Given the description of an element on the screen output the (x, y) to click on. 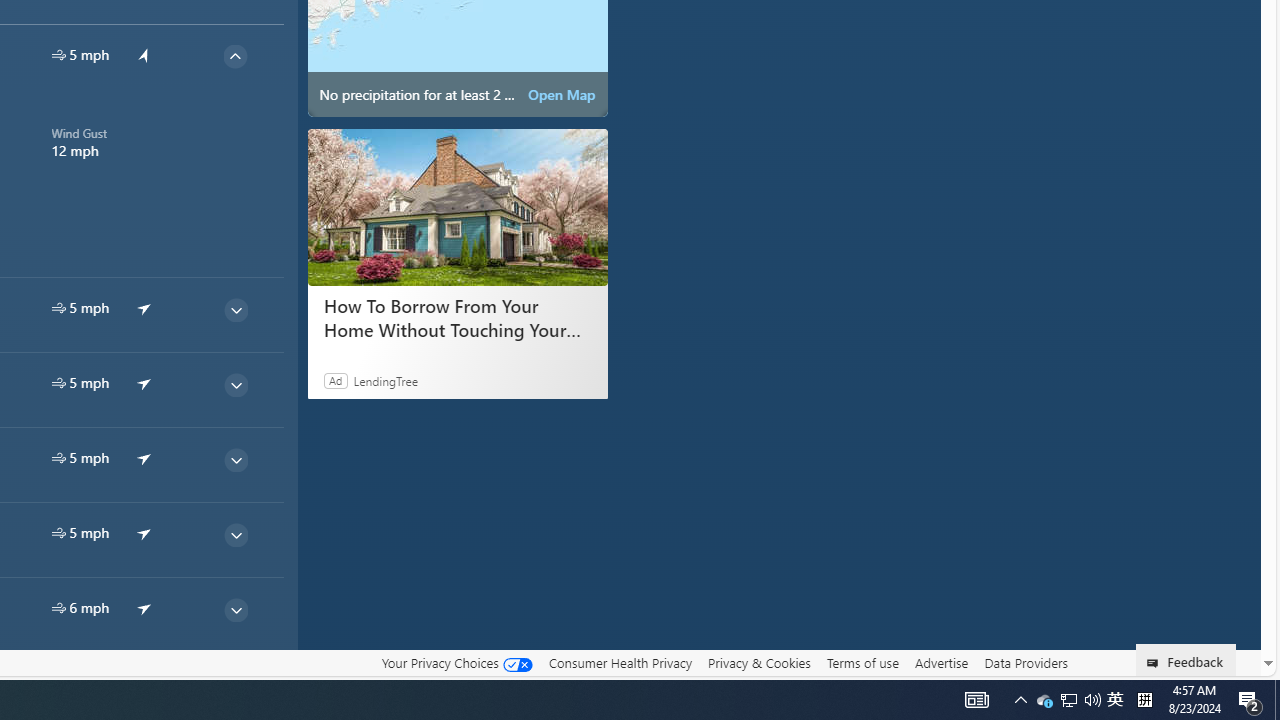
LendingTree (385, 380)
Privacy & Cookies (759, 663)
Terms of use (861, 662)
